Given the description of an element on the screen output the (x, y) to click on. 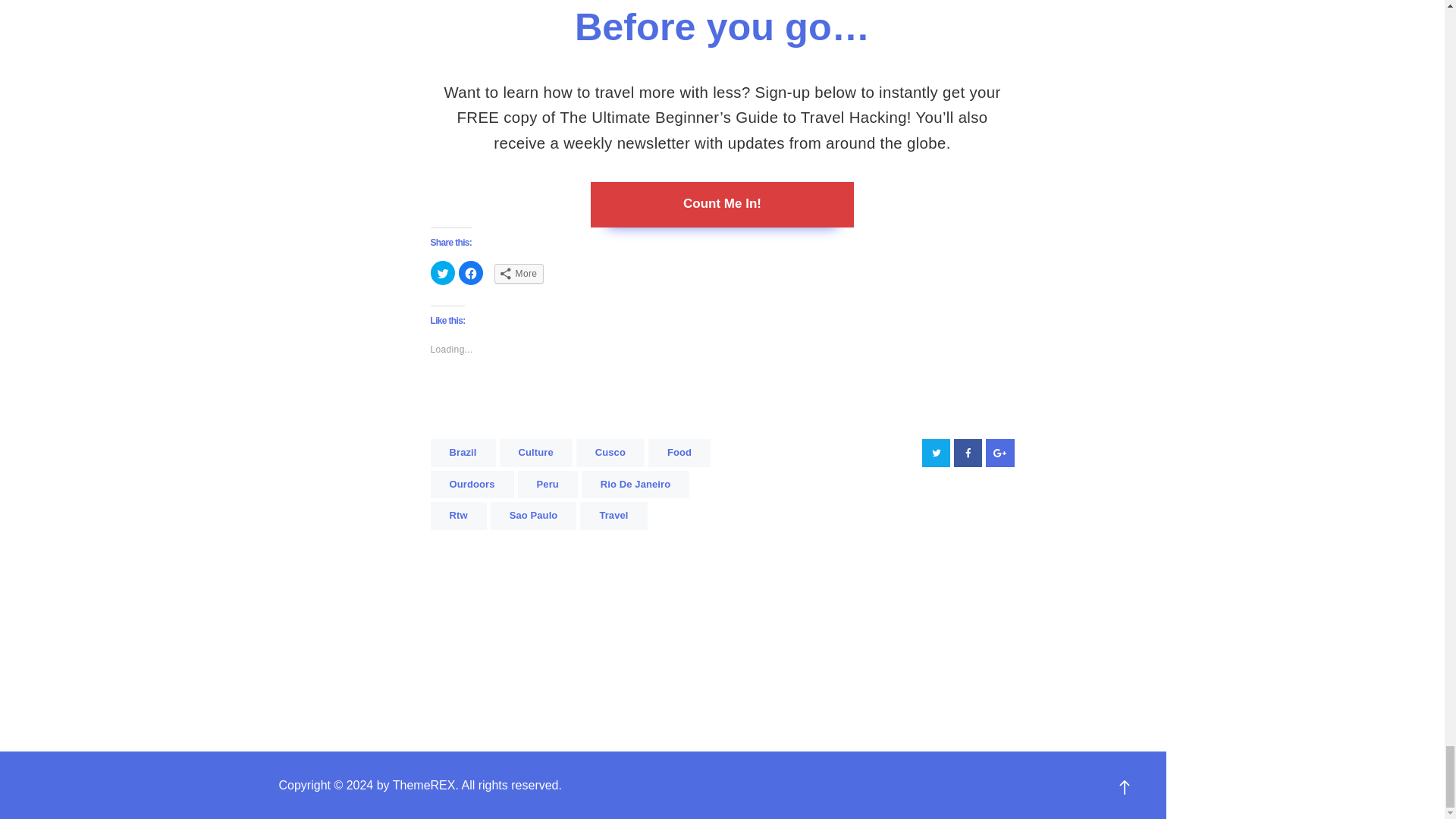
Click to share on Twitter (442, 273)
Click to share on Facebook (470, 273)
